Given the description of an element on the screen output the (x, y) to click on. 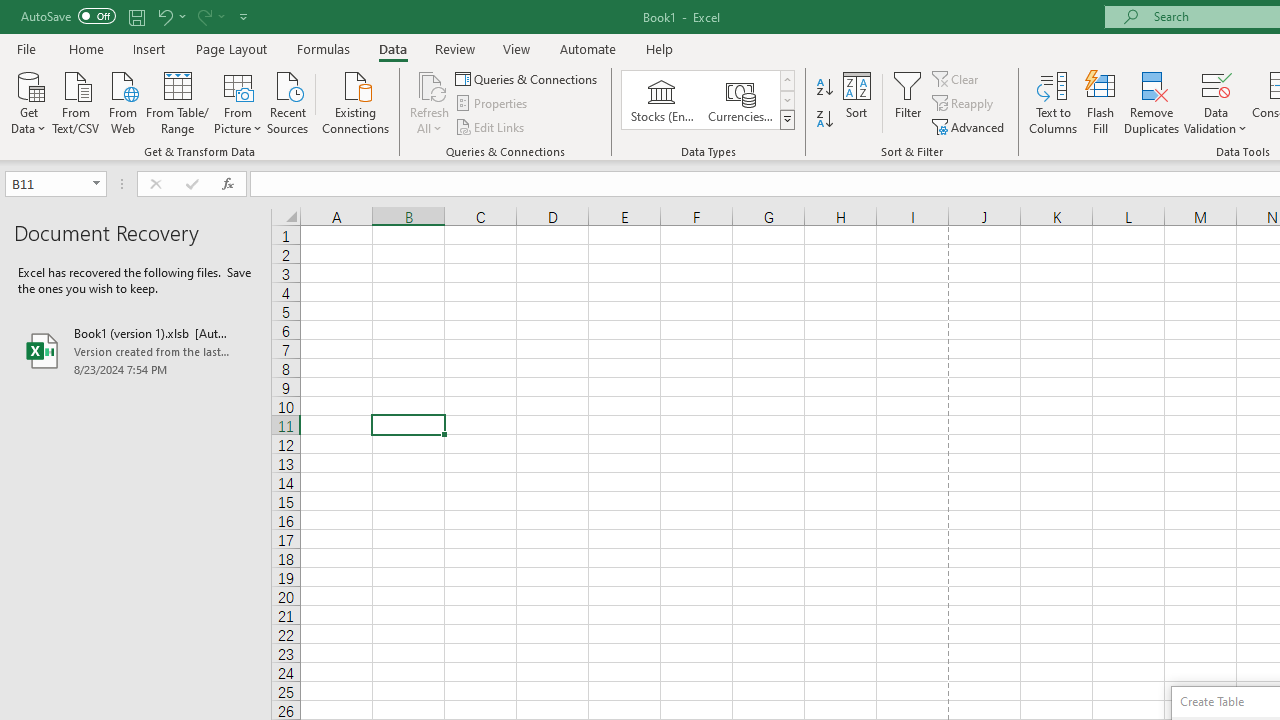
Row Down (786, 100)
Get Data (28, 101)
AutomationID: ConvertToLinkedEntity (708, 99)
Existing Connections (355, 101)
Filter (908, 102)
Reapply (964, 103)
Row up (786, 79)
Queries & Connections (527, 78)
Currencies (English) (740, 100)
